Given the description of an element on the screen output the (x, y) to click on. 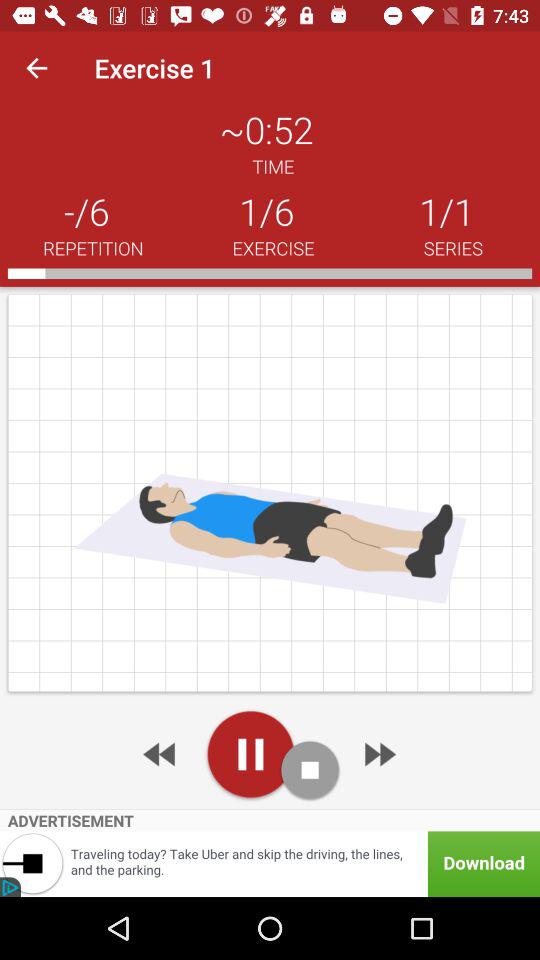
stop current content from playing (309, 769)
